Given the description of an element on the screen output the (x, y) to click on. 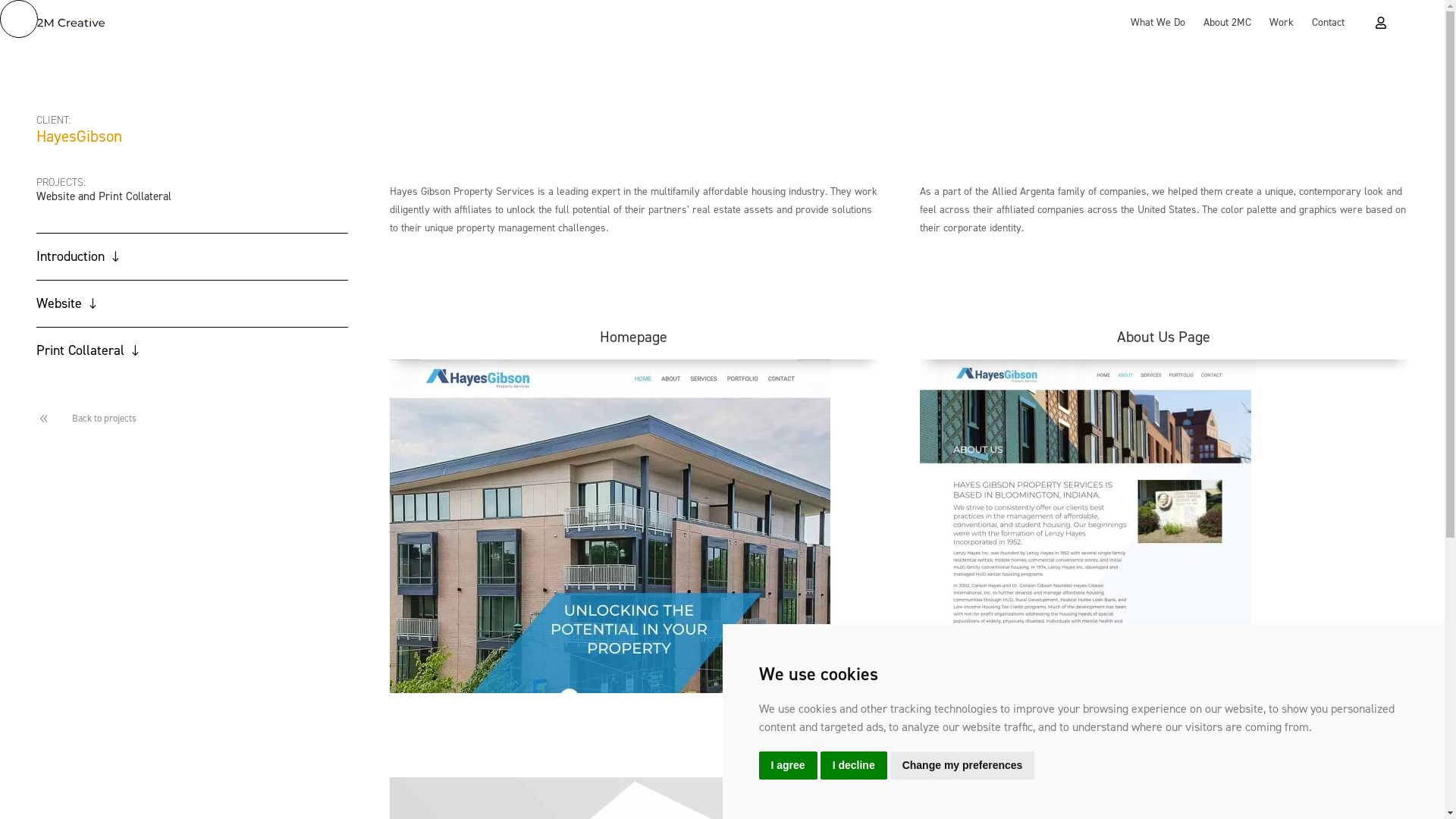
Print Collateral Element type: text (192, 349)
Work Element type: text (1281, 22)
I decline Element type: text (853, 765)
Introduction Element type: text (192, 255)
Contact Element type: text (1327, 22)
What We Do Element type: text (1157, 22)
Change my preferences Element type: text (962, 765)
I agree Element type: text (787, 765)
Website Element type: text (192, 302)
About 2MC Element type: text (1227, 22)
